Given the description of an element on the screen output the (x, y) to click on. 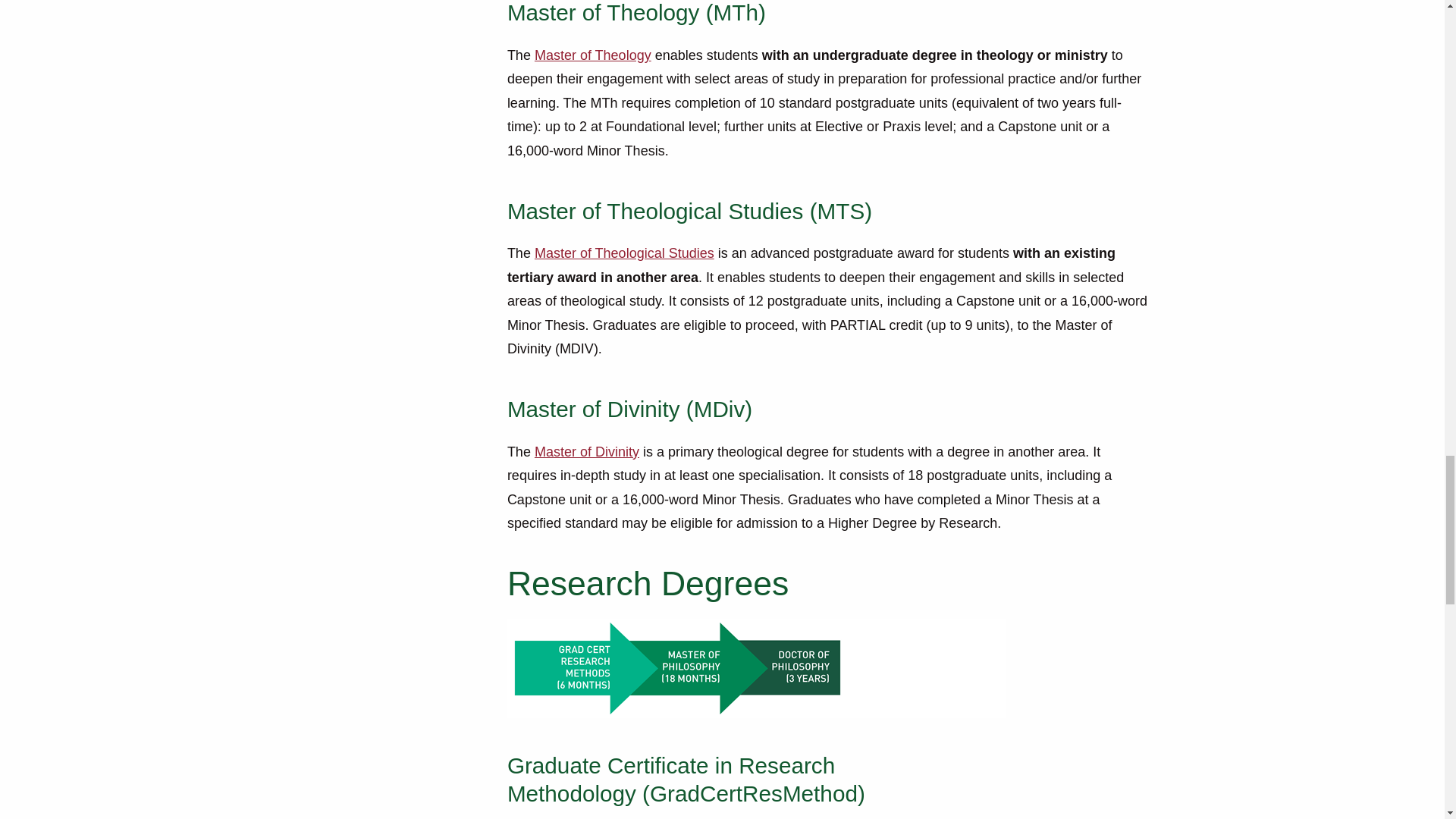
MTS (624, 253)
Master of Divinity (586, 452)
